Given the description of an element on the screen output the (x, y) to click on. 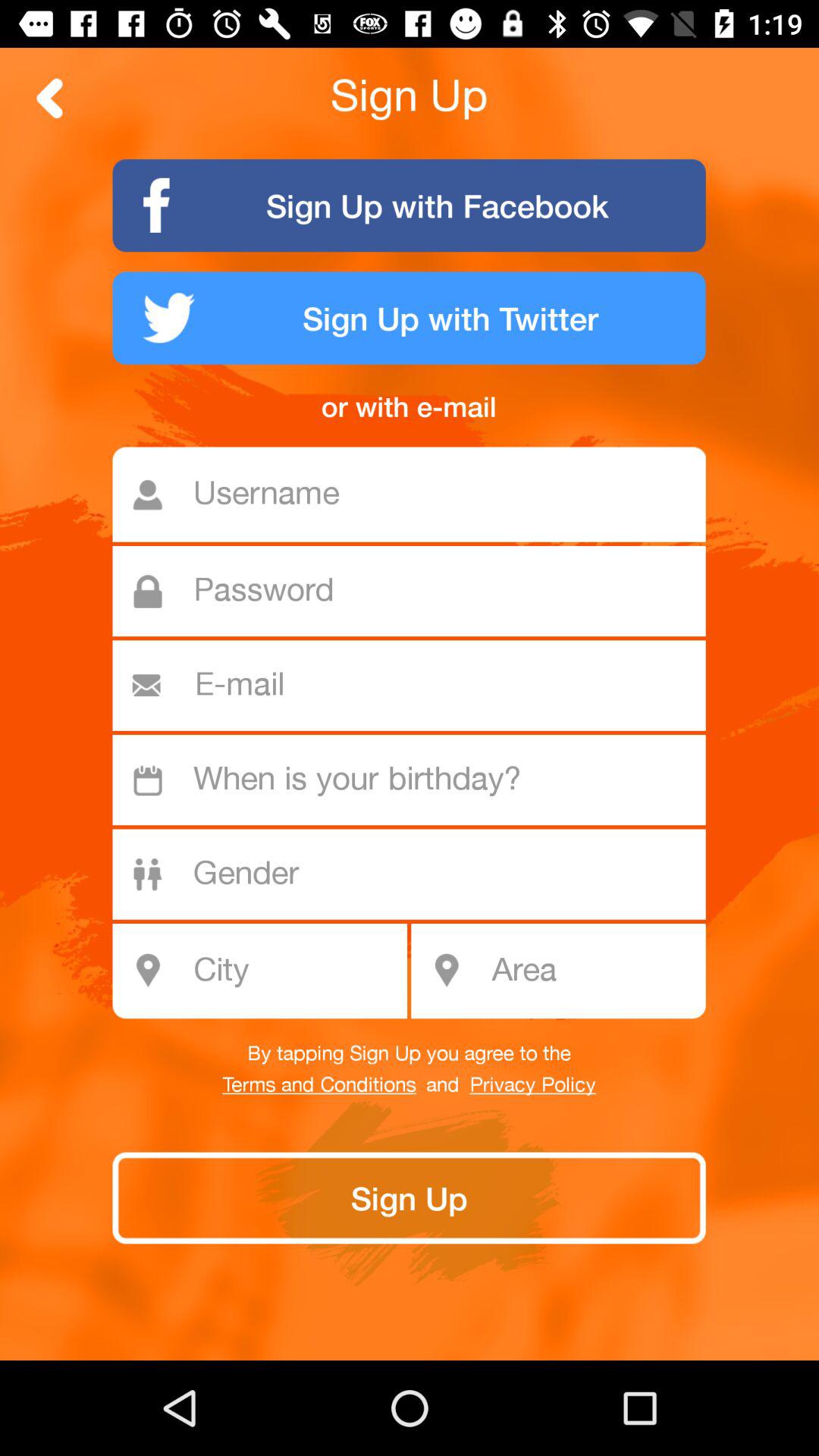
turn on the icon at the bottom right corner (593, 970)
